Given the description of an element on the screen output the (x, y) to click on. 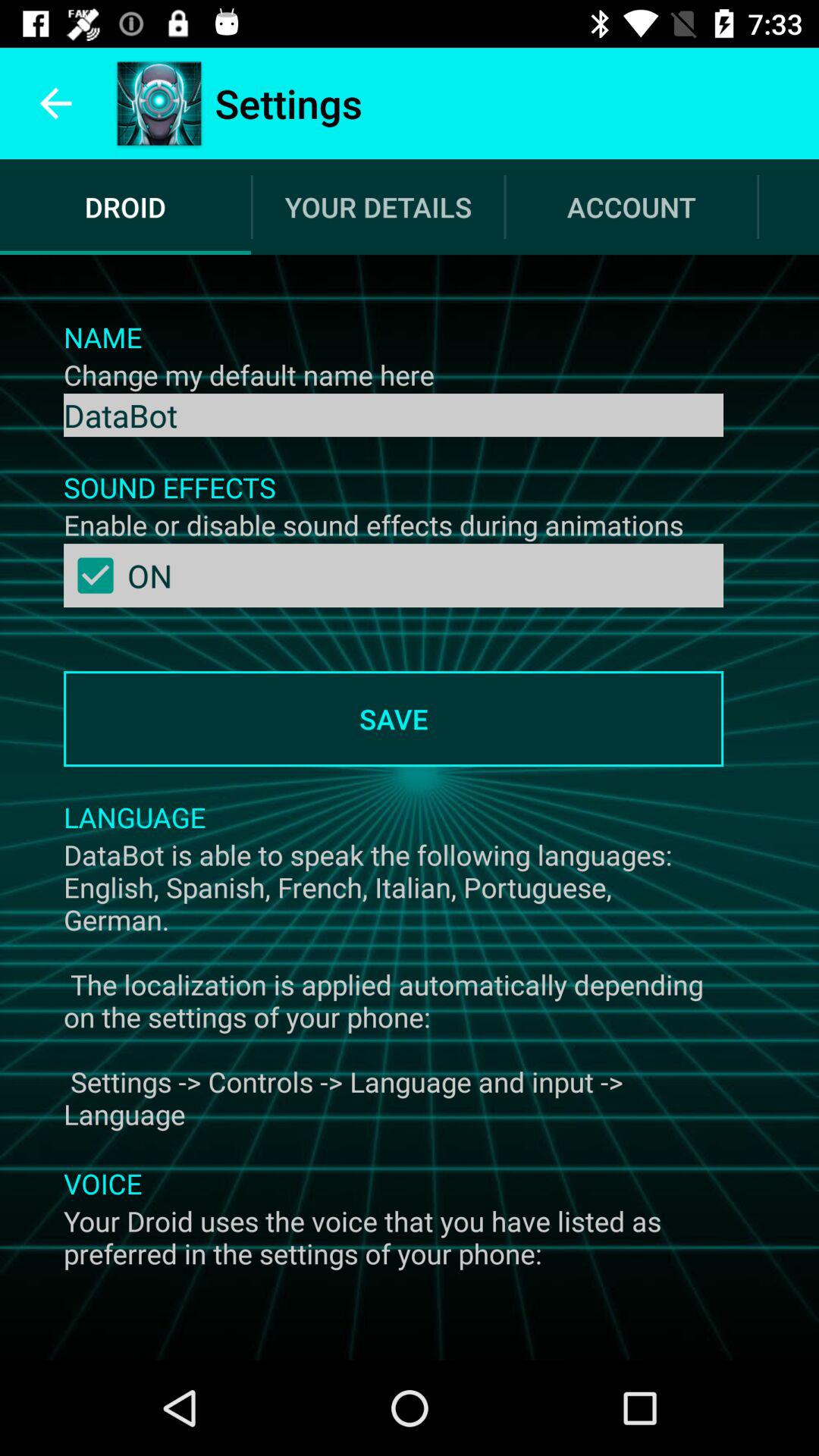
open the icon below the on (393, 718)
